Given the description of an element on the screen output the (x, y) to click on. 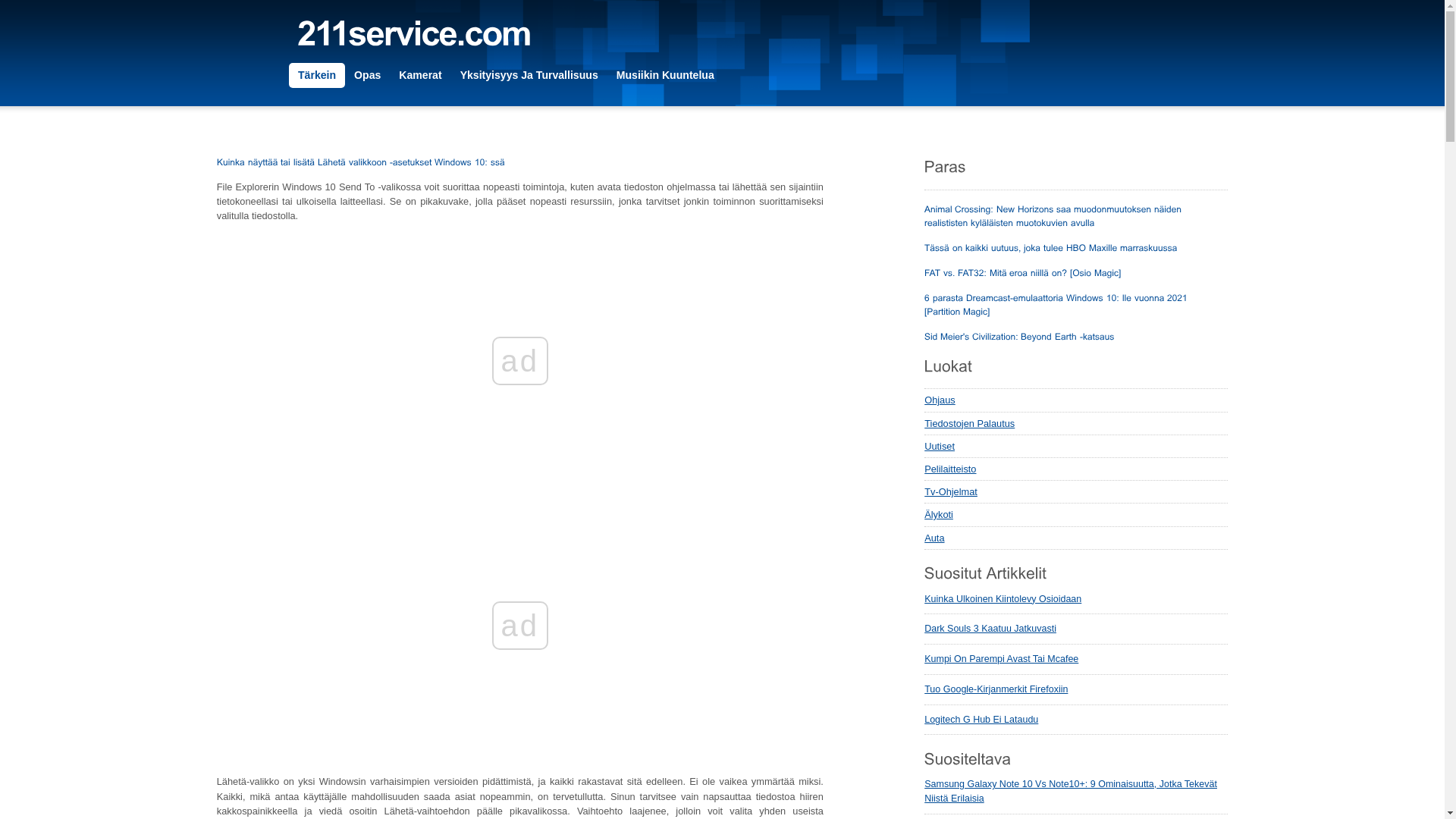
Tiedostojen Palautus Element type: text (1075, 423)
Logitech G Hub Ei Lataudu Element type: text (981, 719)
Musiikin Kuuntelua Element type: text (665, 74)
Opas Element type: text (367, 74)
Dark Souls 3 Kaatuu Jatkuvasti Element type: text (990, 628)
Pelilaitteisto Element type: text (1075, 469)
Kamerat Element type: text (419, 74)
Kuinka Ulkoinen Kiintolevy Osioidaan Element type: text (1002, 598)
Uutiset Element type: text (1075, 446)
Tuo Google-Kirjanmerkit Firefoxiin Element type: text (995, 689)
Auta Element type: text (1075, 538)
Tv-Ohjelmat Element type: text (1075, 491)
Yksityisyys Ja Turvallisuus Element type: text (529, 74)
Kumpi On Parempi Avast Tai Mcafee Element type: text (1001, 658)
Ohjaus Element type: text (1075, 400)
